Given the description of an element on the screen output the (x, y) to click on. 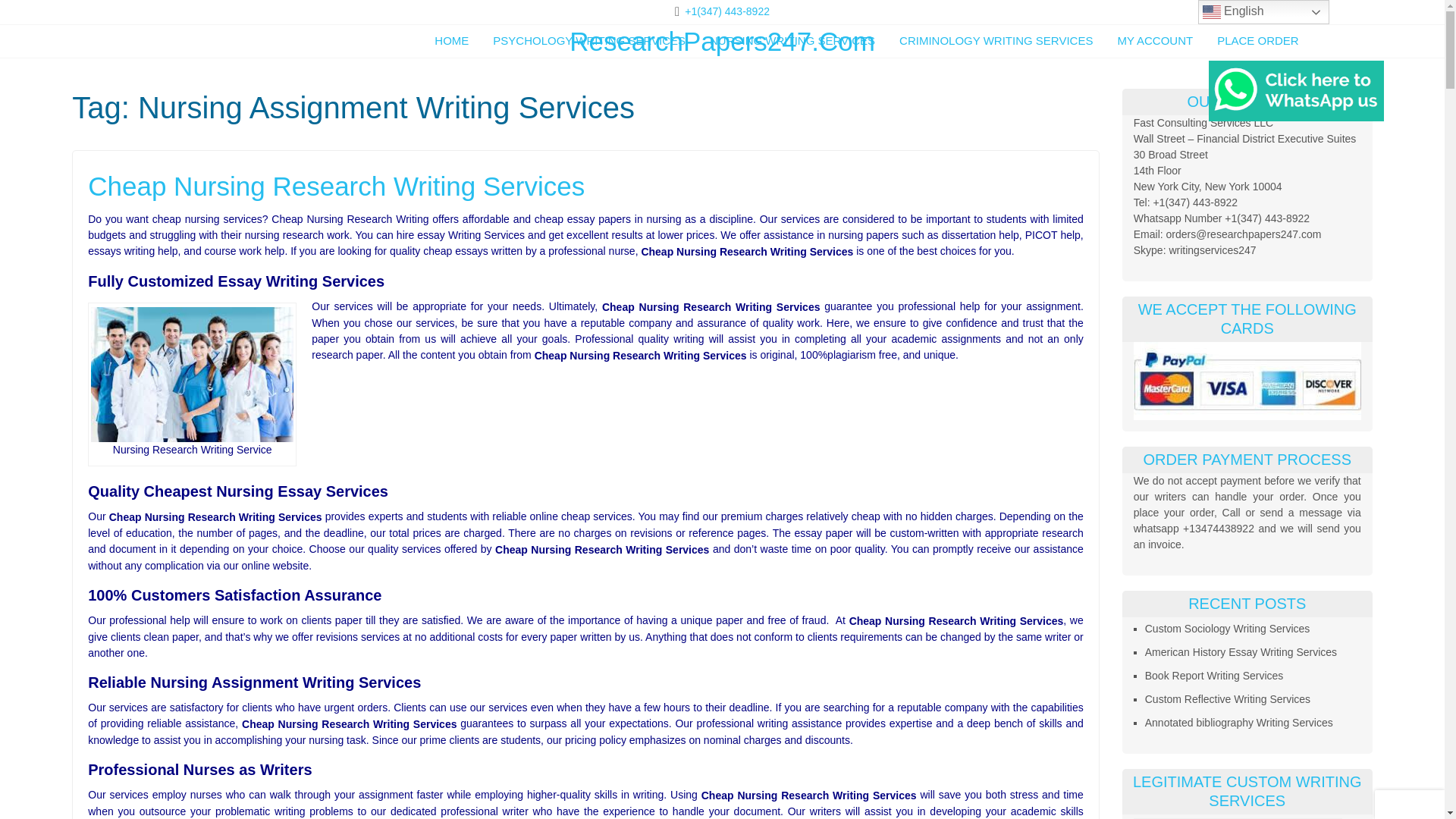
essays writing help (132, 250)
PSYCHOLOGY WRITING SERVICES (589, 40)
CRIMINOLOGY WRITING SERVICES (995, 40)
ResearchPapers247.Com (722, 40)
HOME (451, 40)
Cheap Nursing Research Writing Services (585, 186)
NURSING WRITING SERVICES (792, 40)
MY ACCOUNT (1154, 40)
PLACE ORDER (1257, 40)
Cheap Nursing Research Writing Services (192, 374)
